Given the description of an element on the screen output the (x, y) to click on. 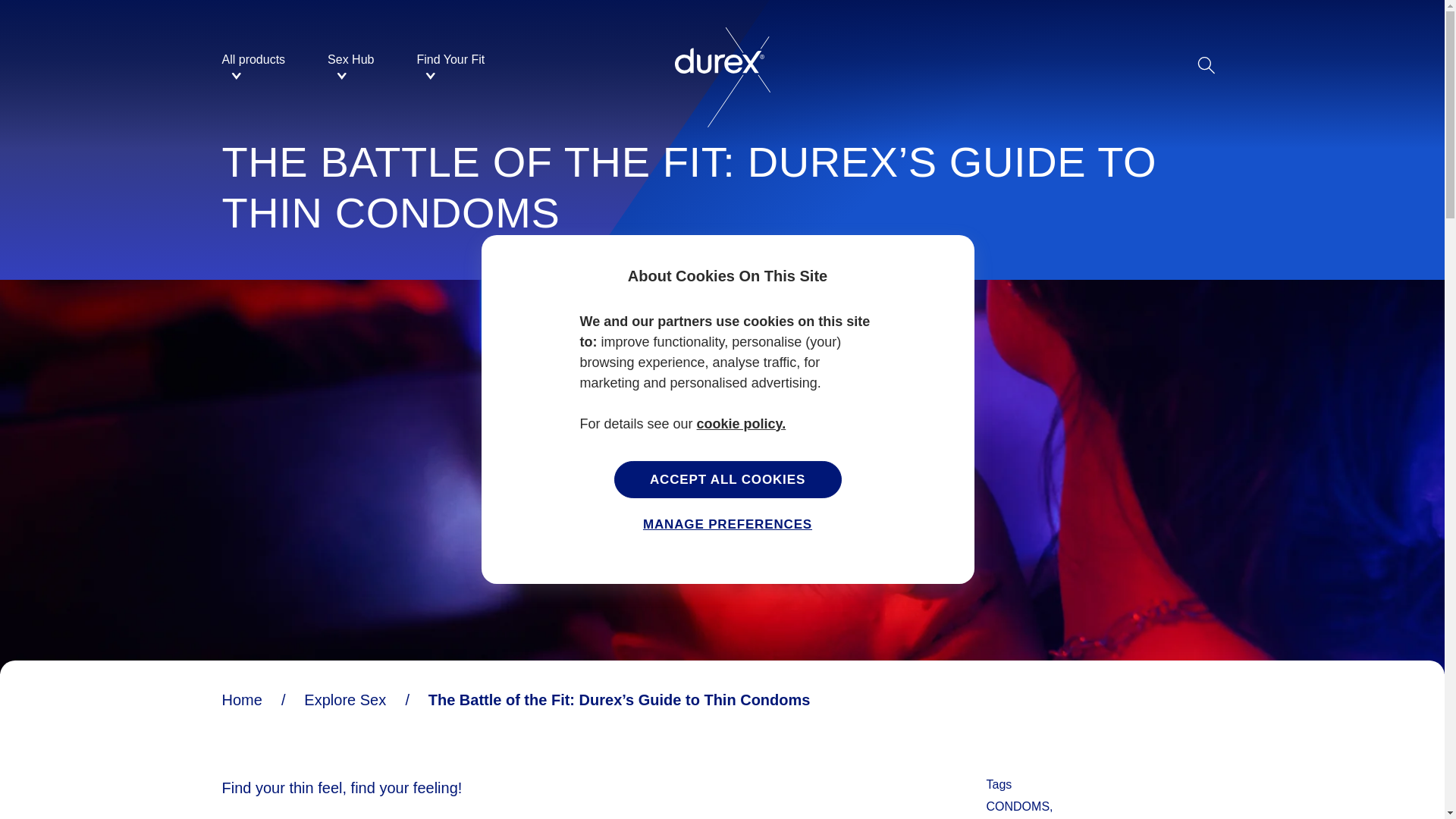
Skip to content (721, 180)
Go to homepage (722, 65)
Go to homepage (721, 180)
